Given the description of an element on the screen output the (x, y) to click on. 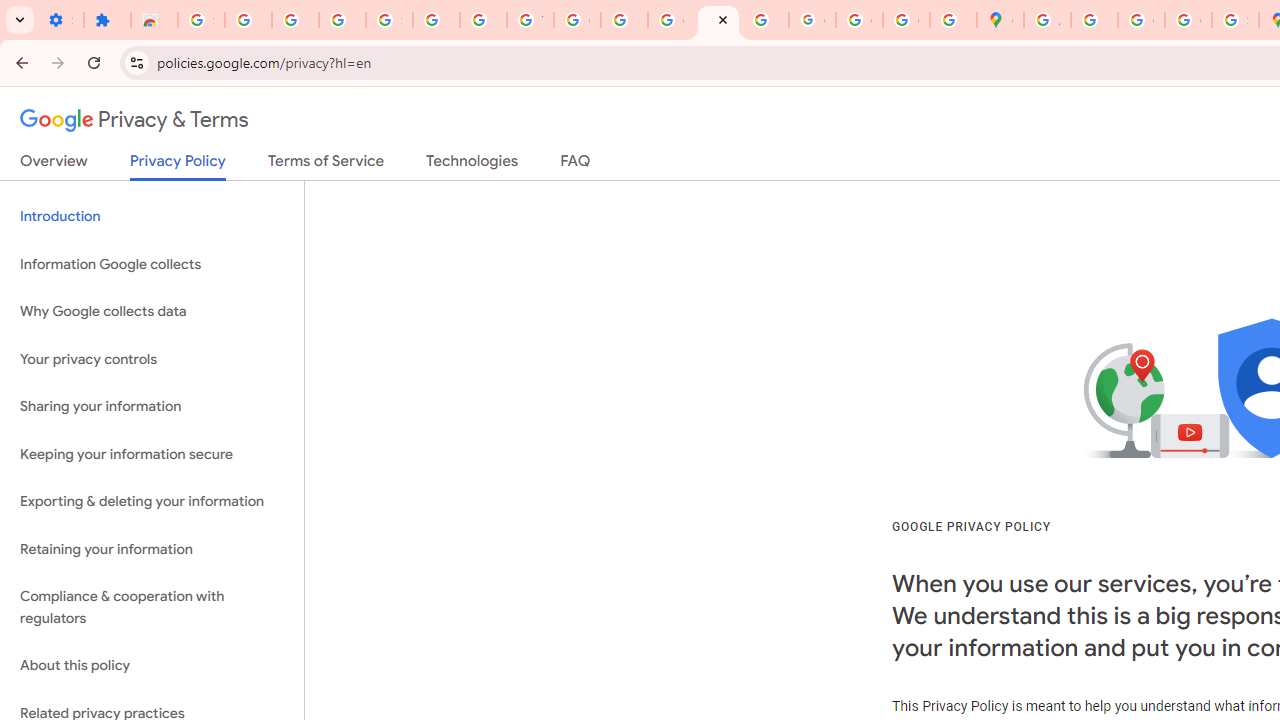
Keeping your information secure (152, 453)
Delete photos & videos - Computer - Google Photos Help (248, 20)
